Given the description of an element on the screen output the (x, y) to click on. 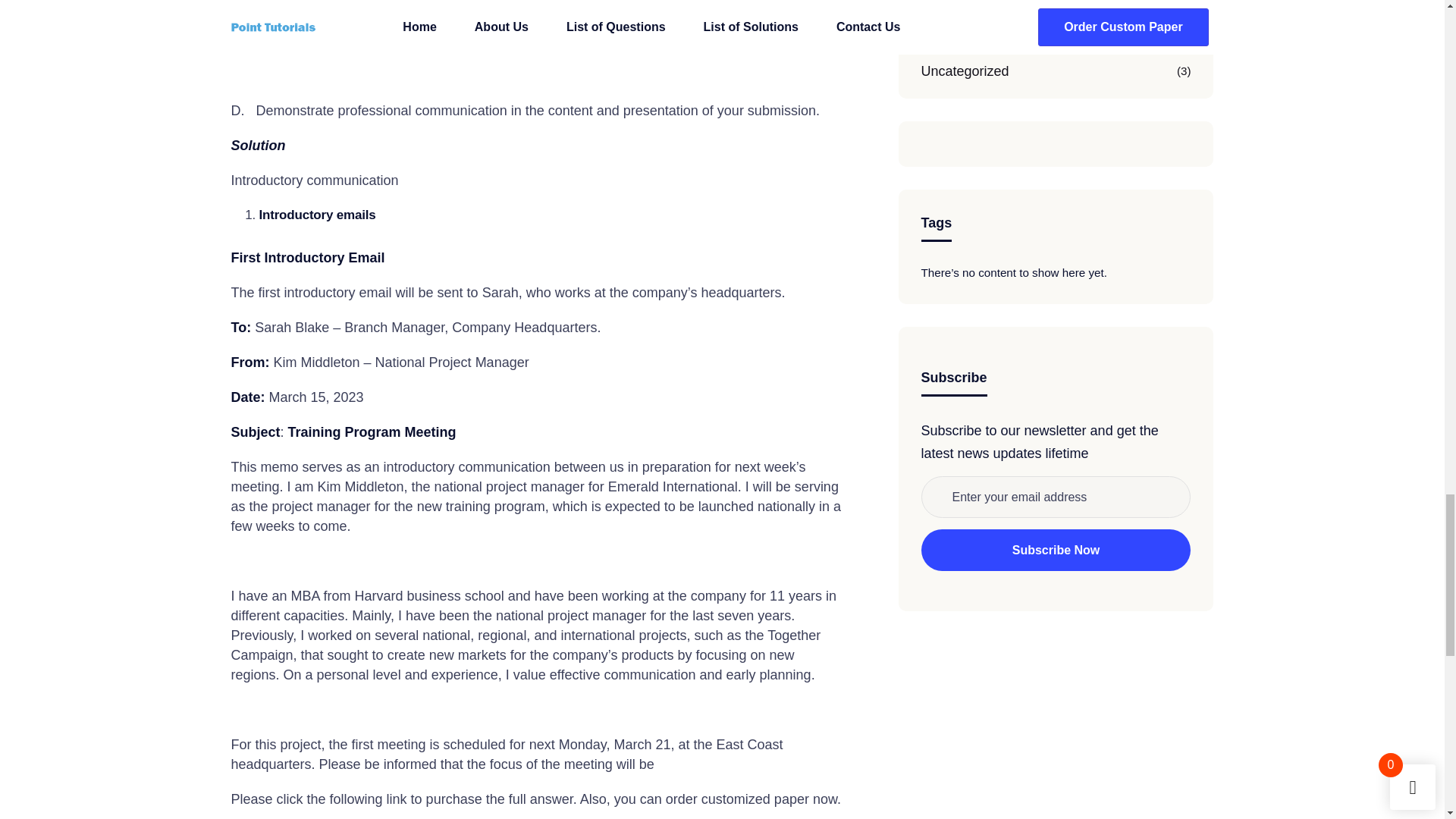
Subscribe Now (1055, 549)
Subscribe Now (1055, 549)
Uncategorized (964, 70)
list of solutions (965, 27)
